Given the description of an element on the screen output the (x, y) to click on. 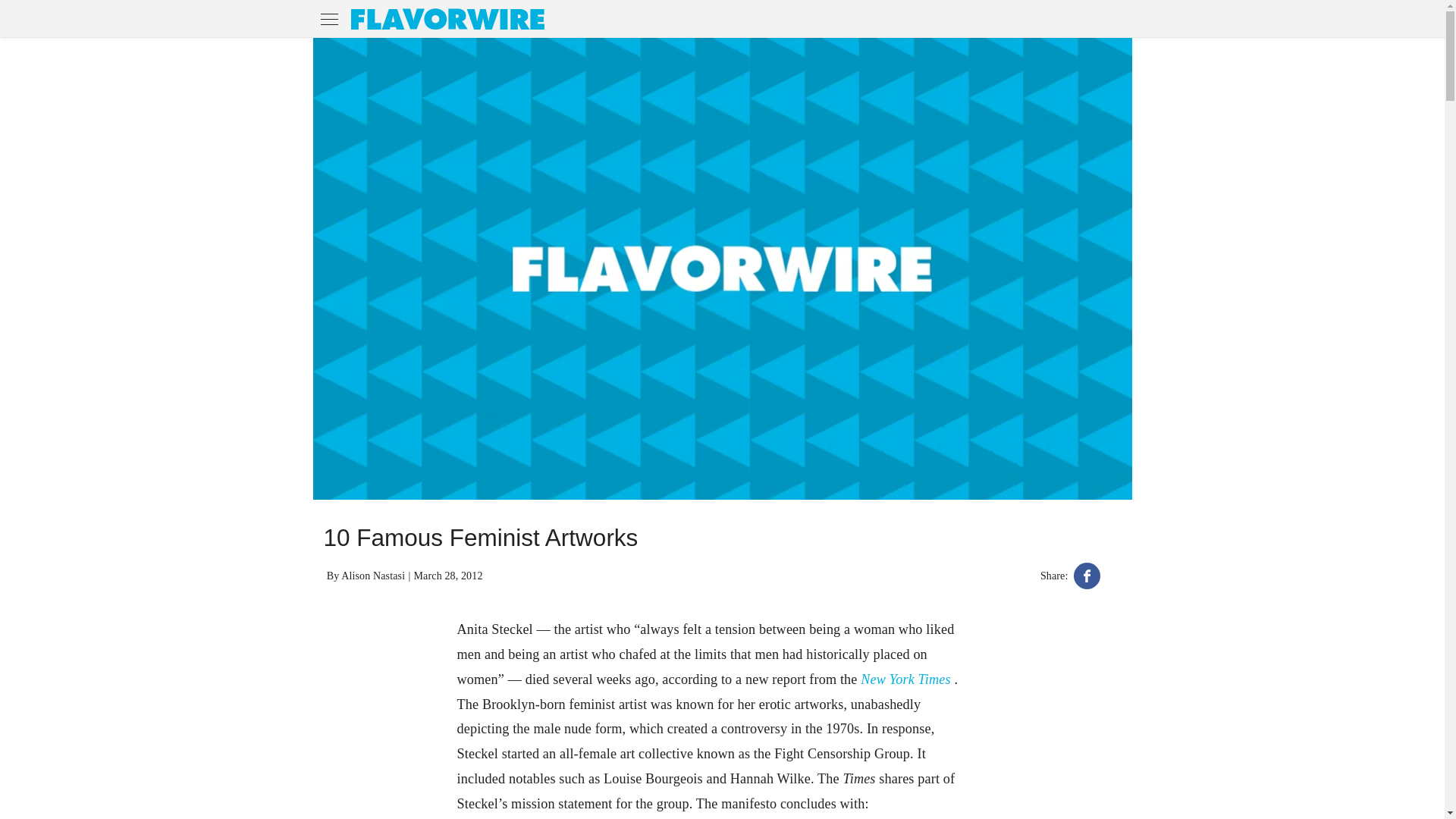
Flavorwire (447, 18)
New York Times (906, 679)
